Given the description of an element on the screen output the (x, y) to click on. 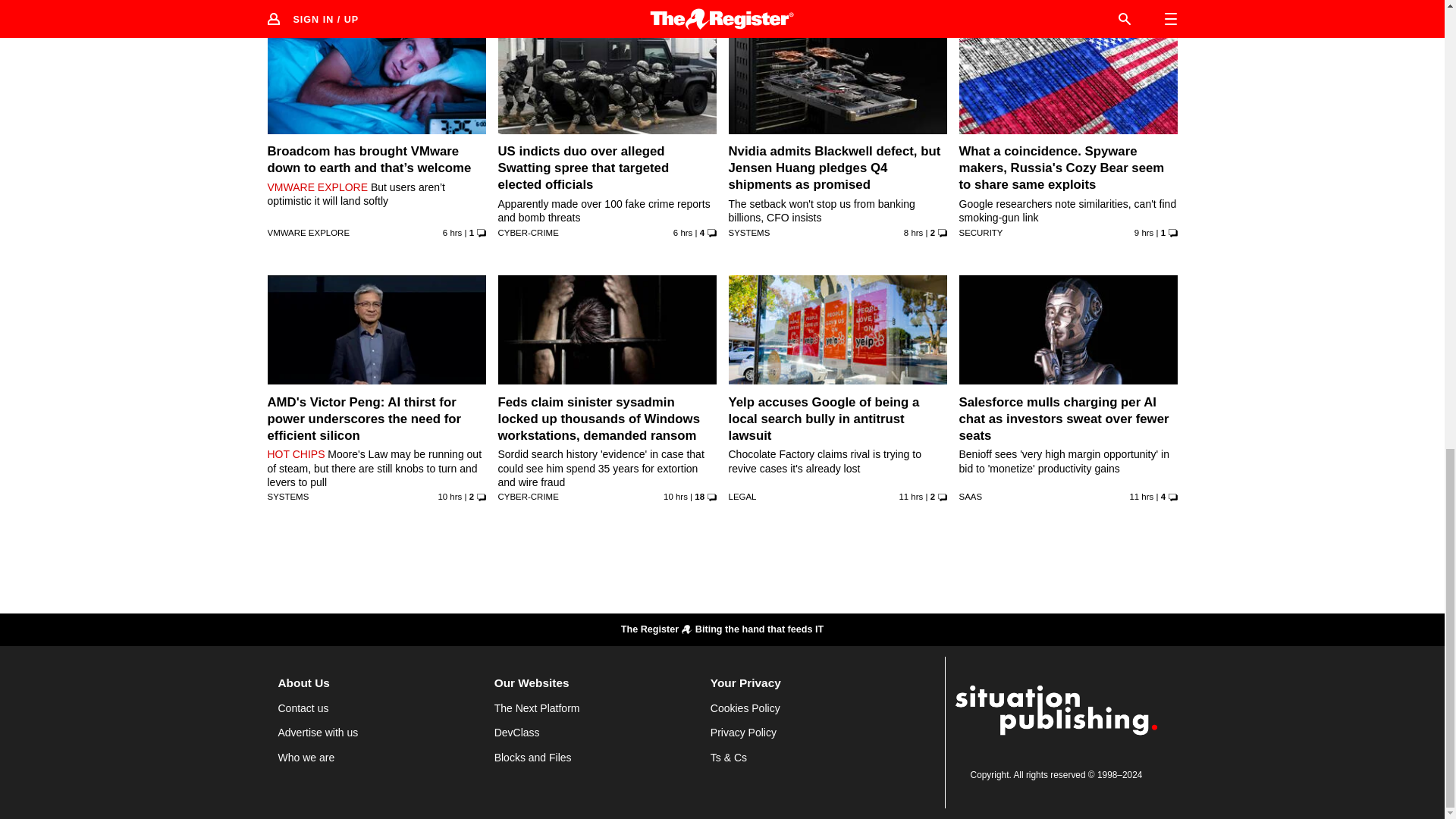
29 Aug 2024 22:28 (682, 232)
29 Aug 2024 20:45 (913, 232)
29 Aug 2024 17:33 (1141, 496)
29 Aug 2024 23:15 (452, 232)
29 Aug 2024 19:15 (449, 496)
29 Aug 2024 18:30 (675, 496)
29 Aug 2024 20:3 (1144, 232)
29 Aug 2024 18:0 (910, 496)
